Given the description of an element on the screen output the (x, y) to click on. 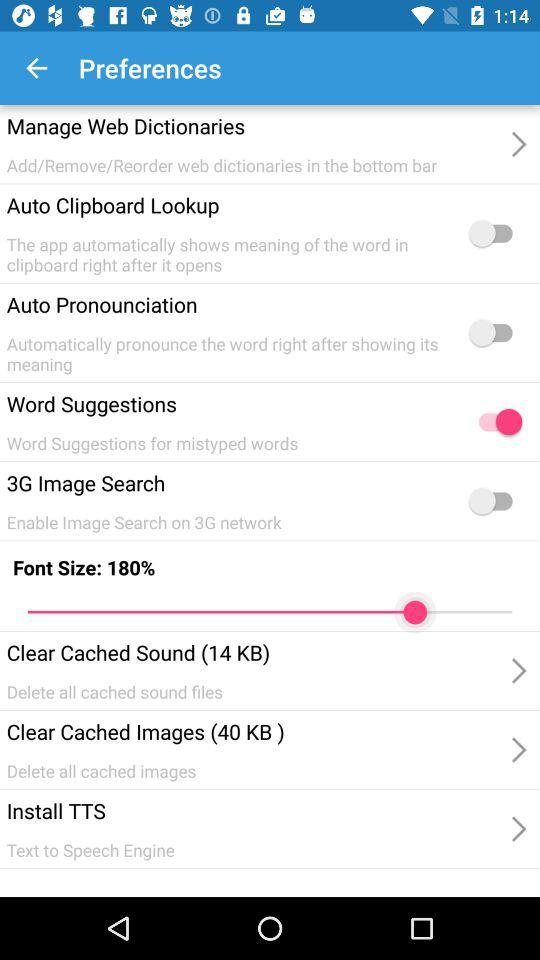
toggle 3g image search option (495, 501)
